Given the description of an element on the screen output the (x, y) to click on. 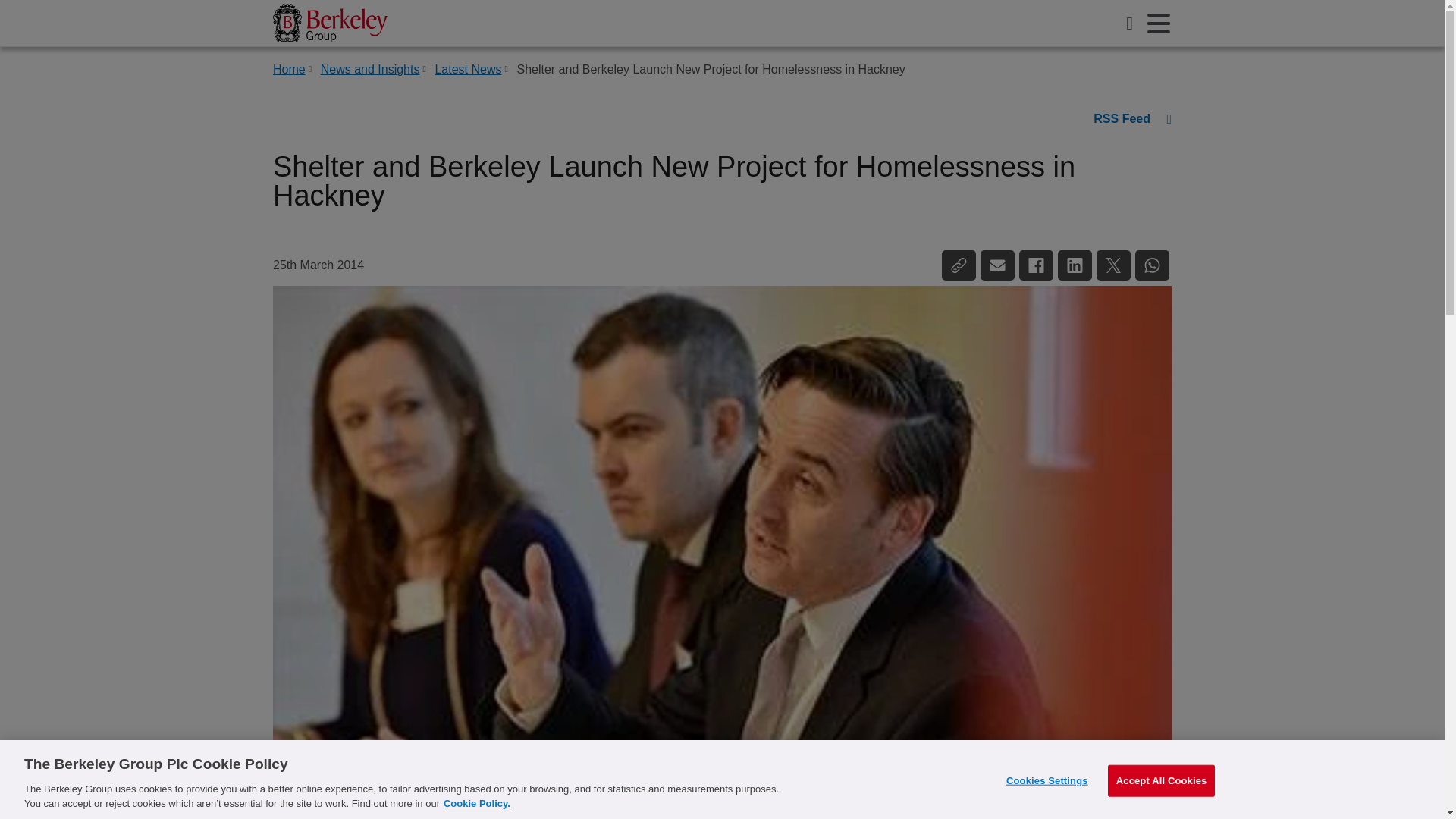
Berkeley Group PLC logo (330, 23)
Search (1129, 22)
